Given the description of an element on the screen output the (x, y) to click on. 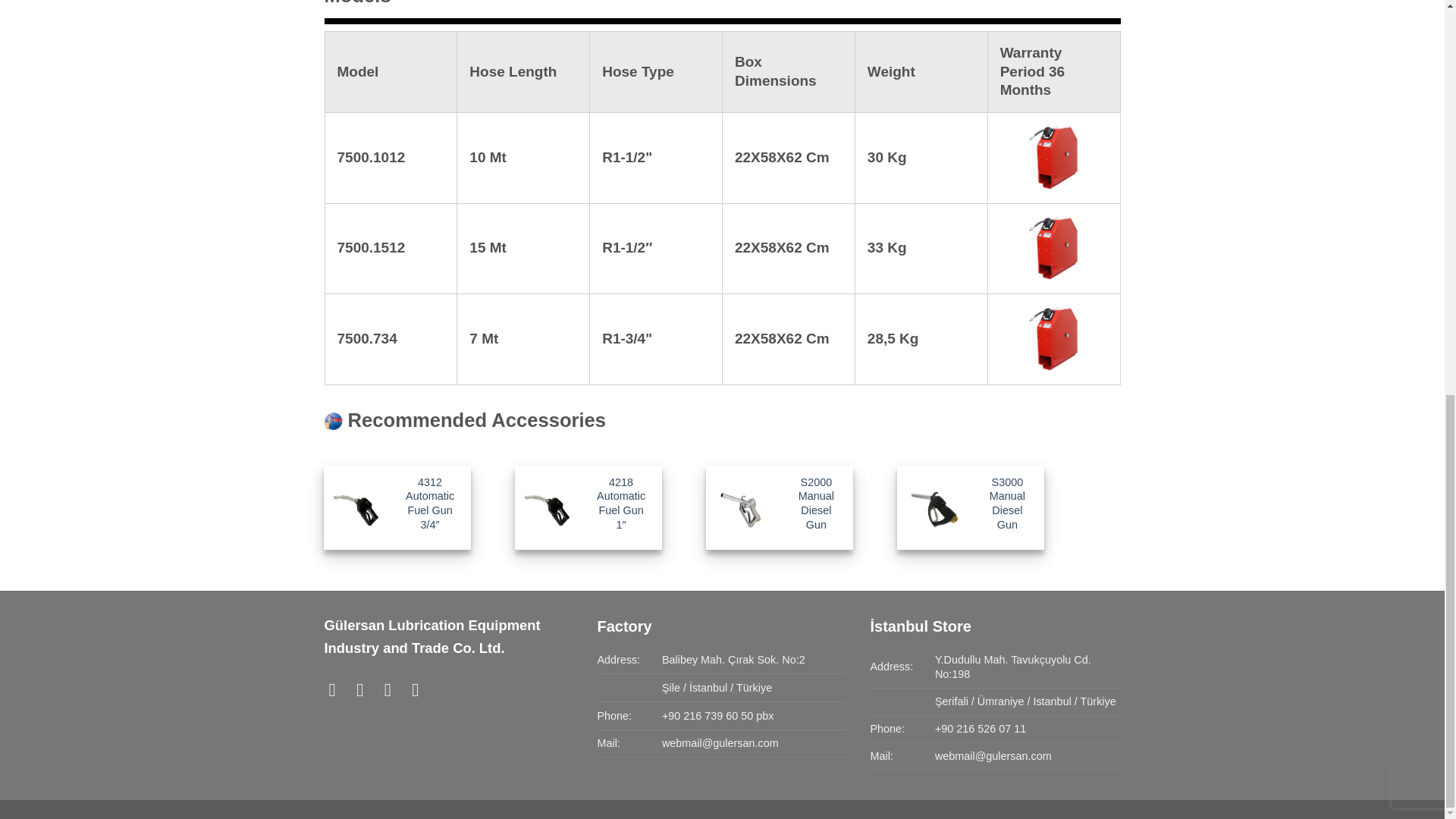
Follow on Facebook (338, 689)
Follow on Instagram (365, 689)
